Given the description of an element on the screen output the (x, y) to click on. 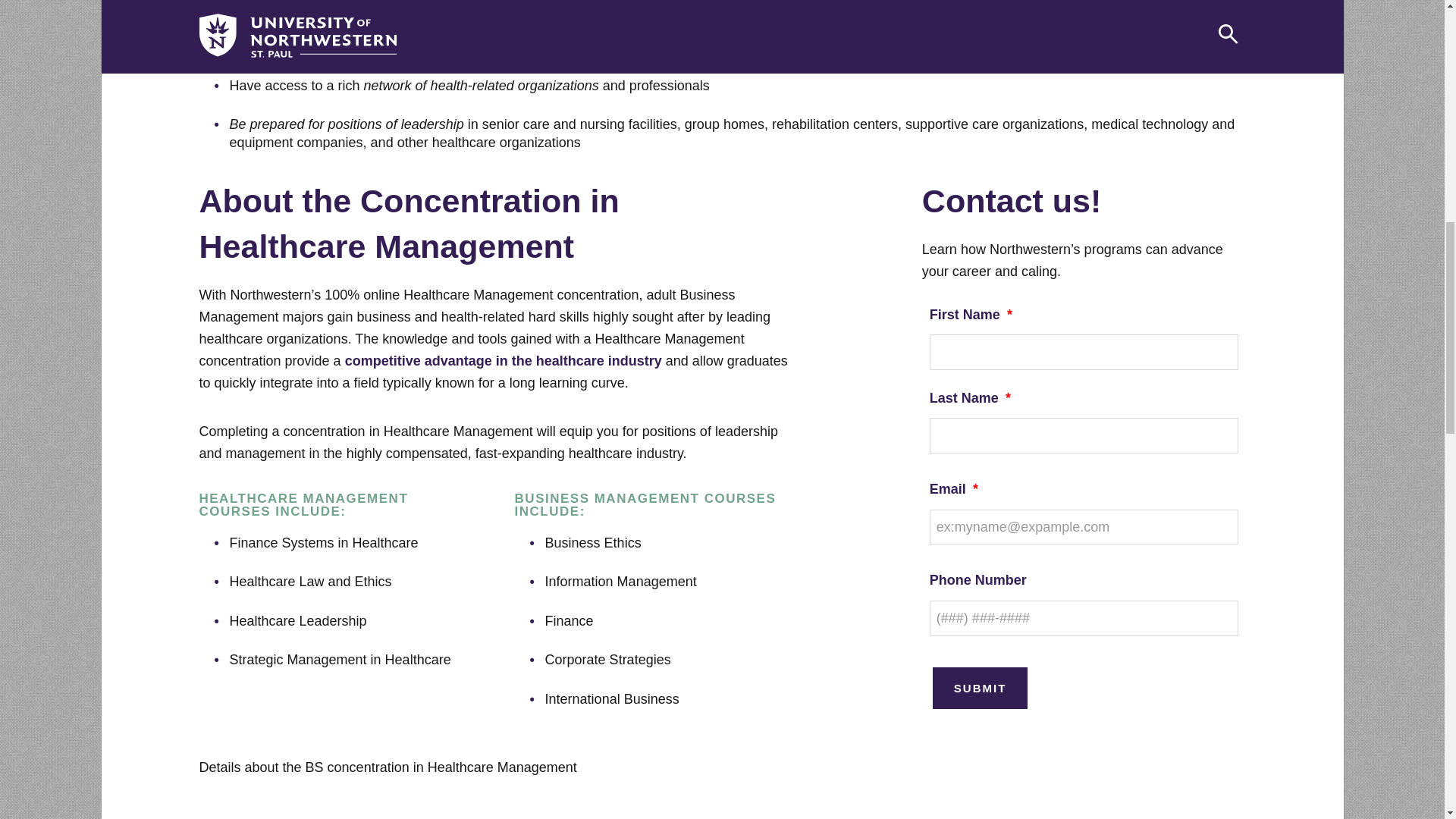
SUBMIT (980, 688)
